Given the description of an element on the screen output the (x, y) to click on. 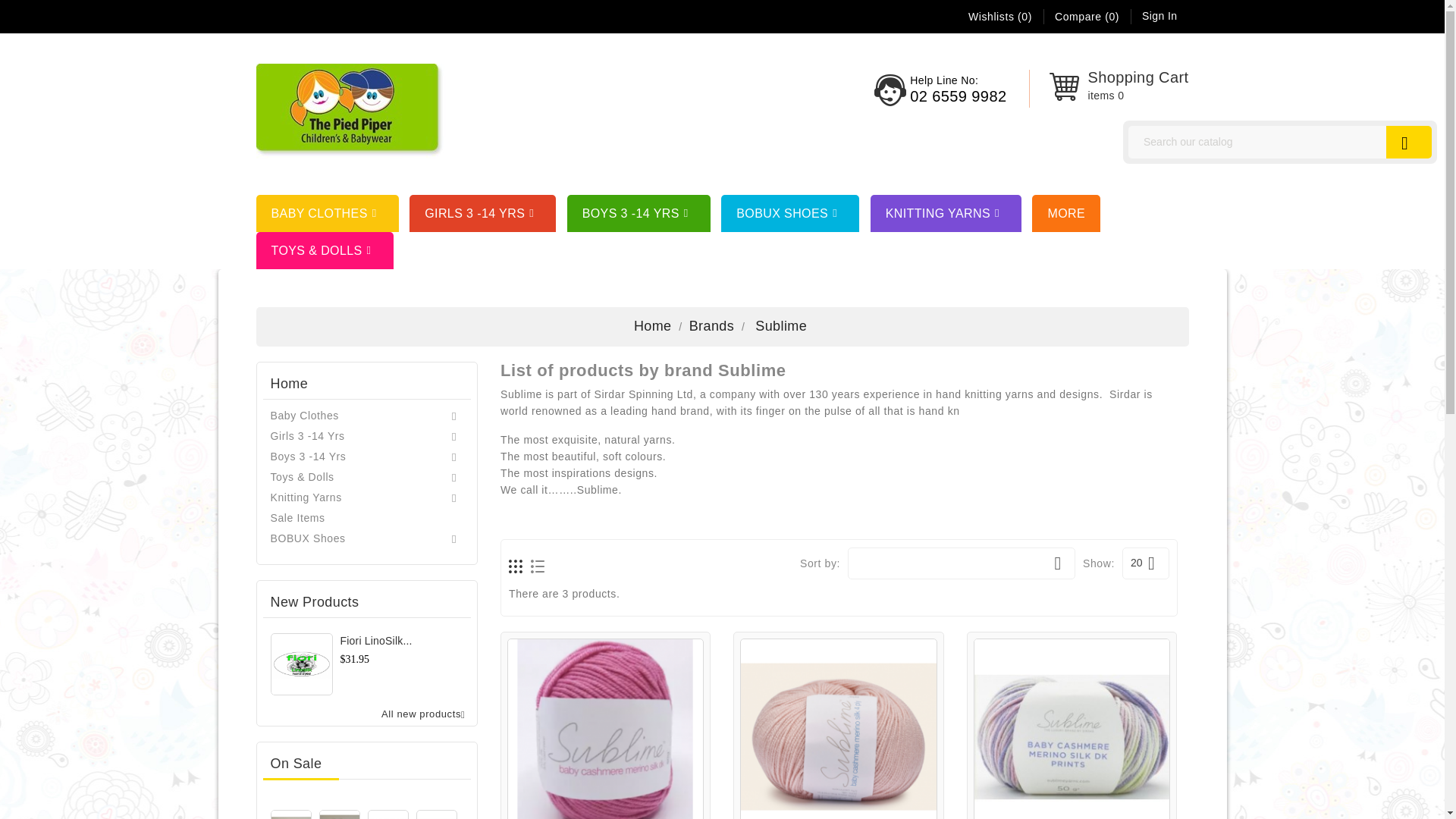
Log in to your customer account (1158, 15)
Sign In (1158, 15)
